Given the description of an element on the screen output the (x, y) to click on. 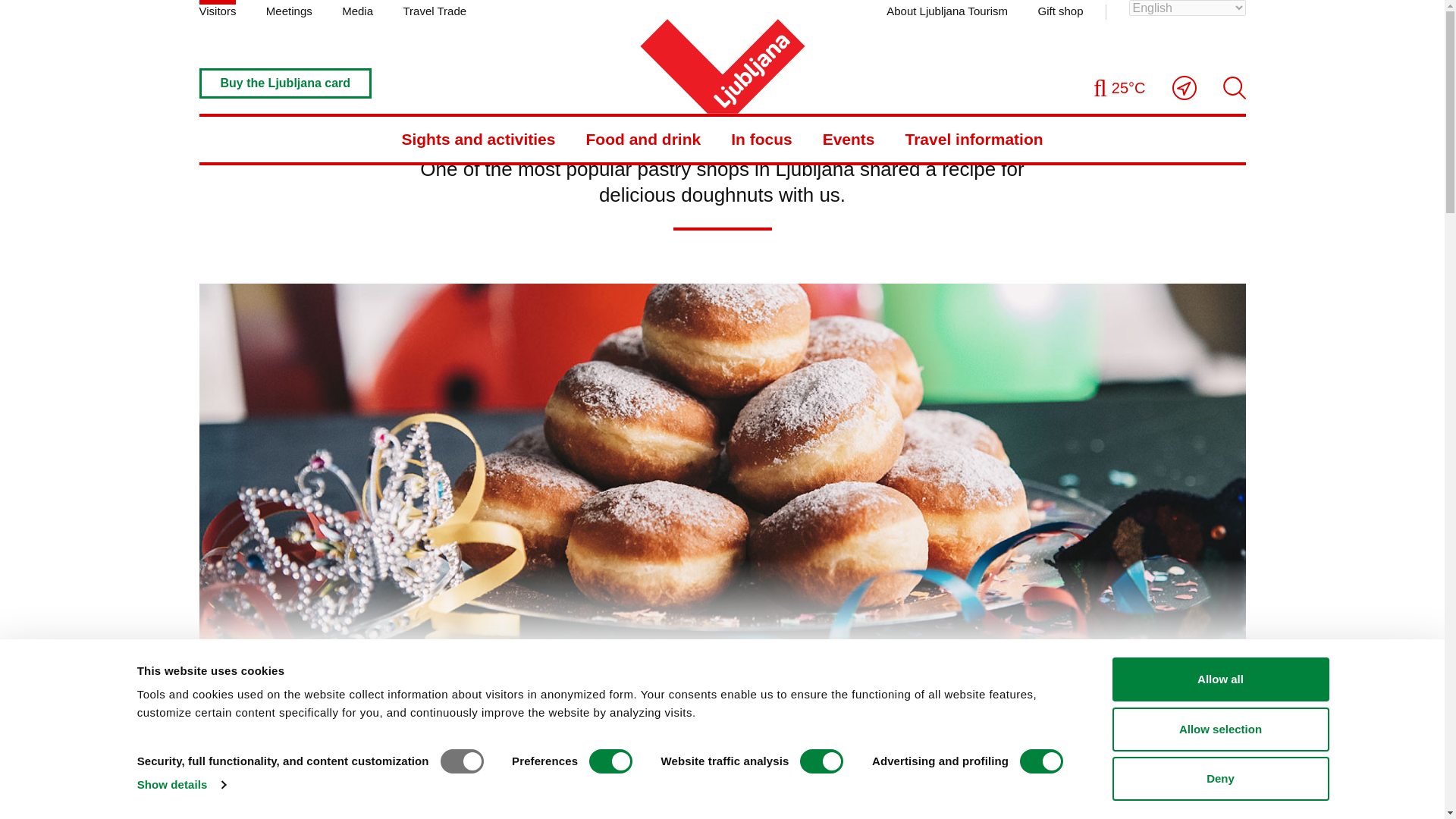
Show details (180, 784)
